Given the description of an element on the screen output the (x, y) to click on. 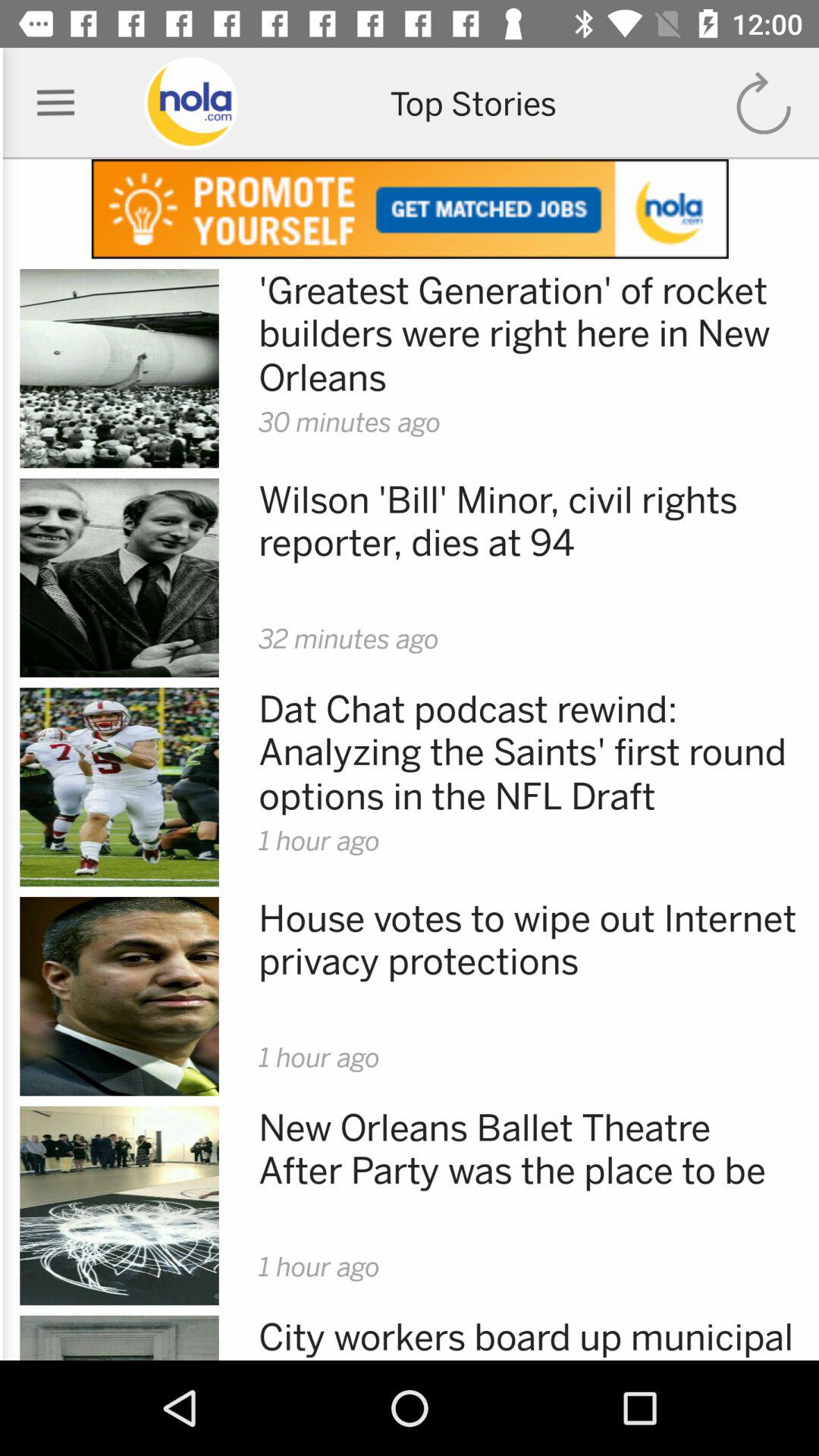
go to advertisement (409, 208)
